Given the description of an element on the screen output the (x, y) to click on. 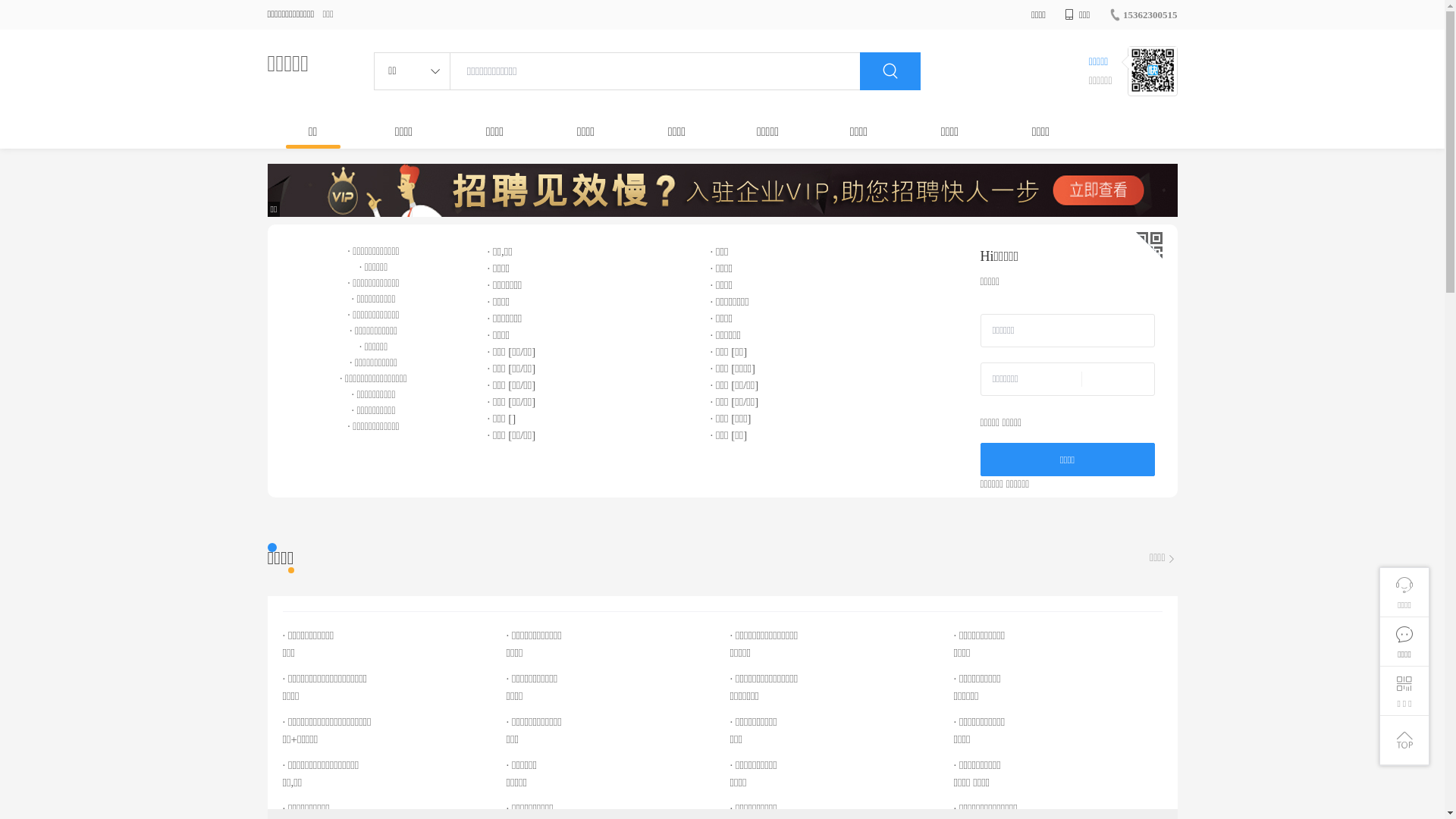
15362300515 Element type: text (1142, 14)
